Given the description of an element on the screen output the (x, y) to click on. 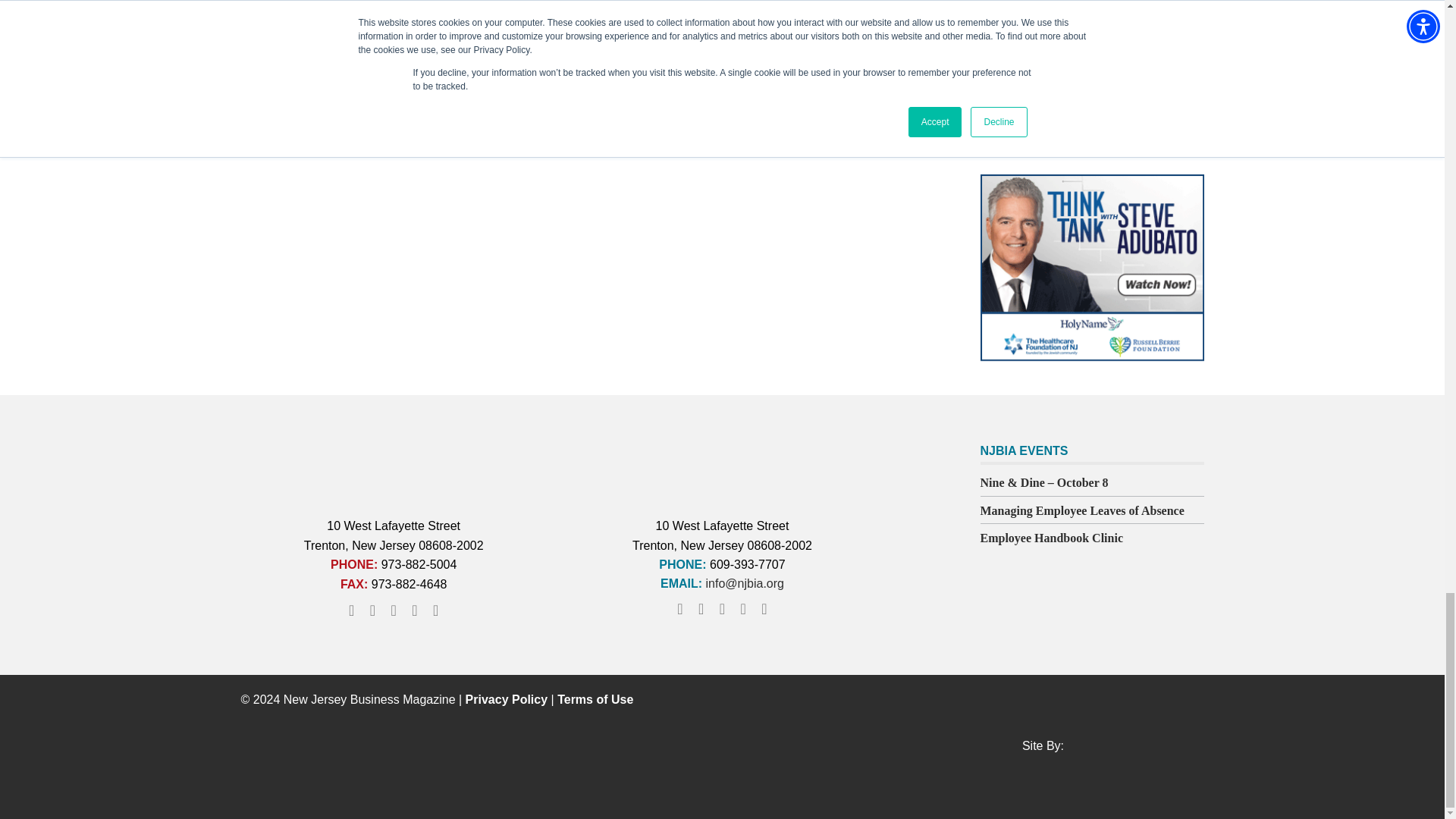
Subscribe (1050, 101)
